Given the description of an element on the screen output the (x, y) to click on. 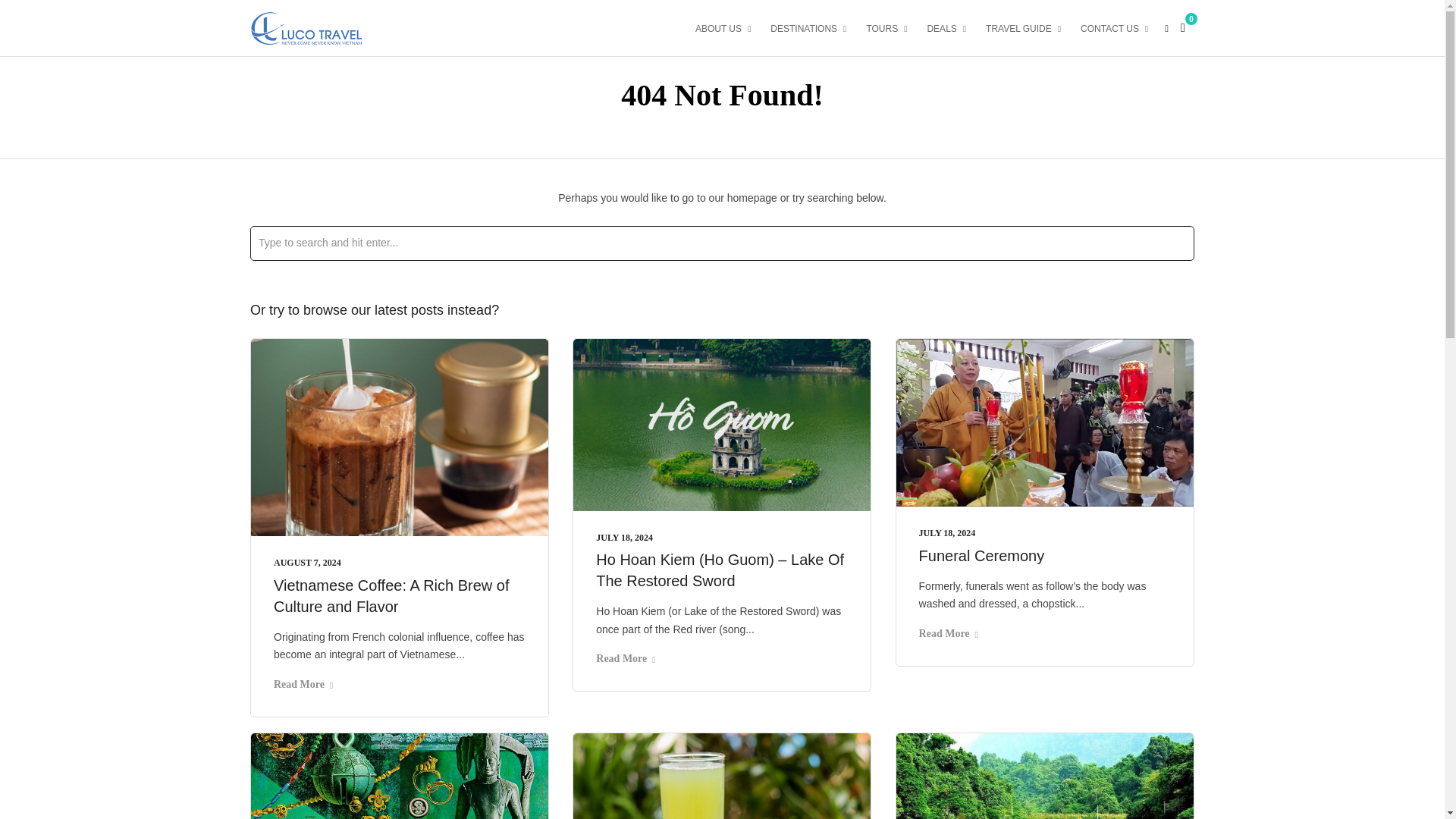
Funeral Ceremony (981, 555)
View Cart (1182, 26)
Funeral Ceremony (946, 532)
Vietnamese Coffee: A Rich Brew of Culture and Flavor (306, 562)
Vietnamese Coffee: A Rich Brew of Culture and Flavor (391, 596)
